Given the description of an element on the screen output the (x, y) to click on. 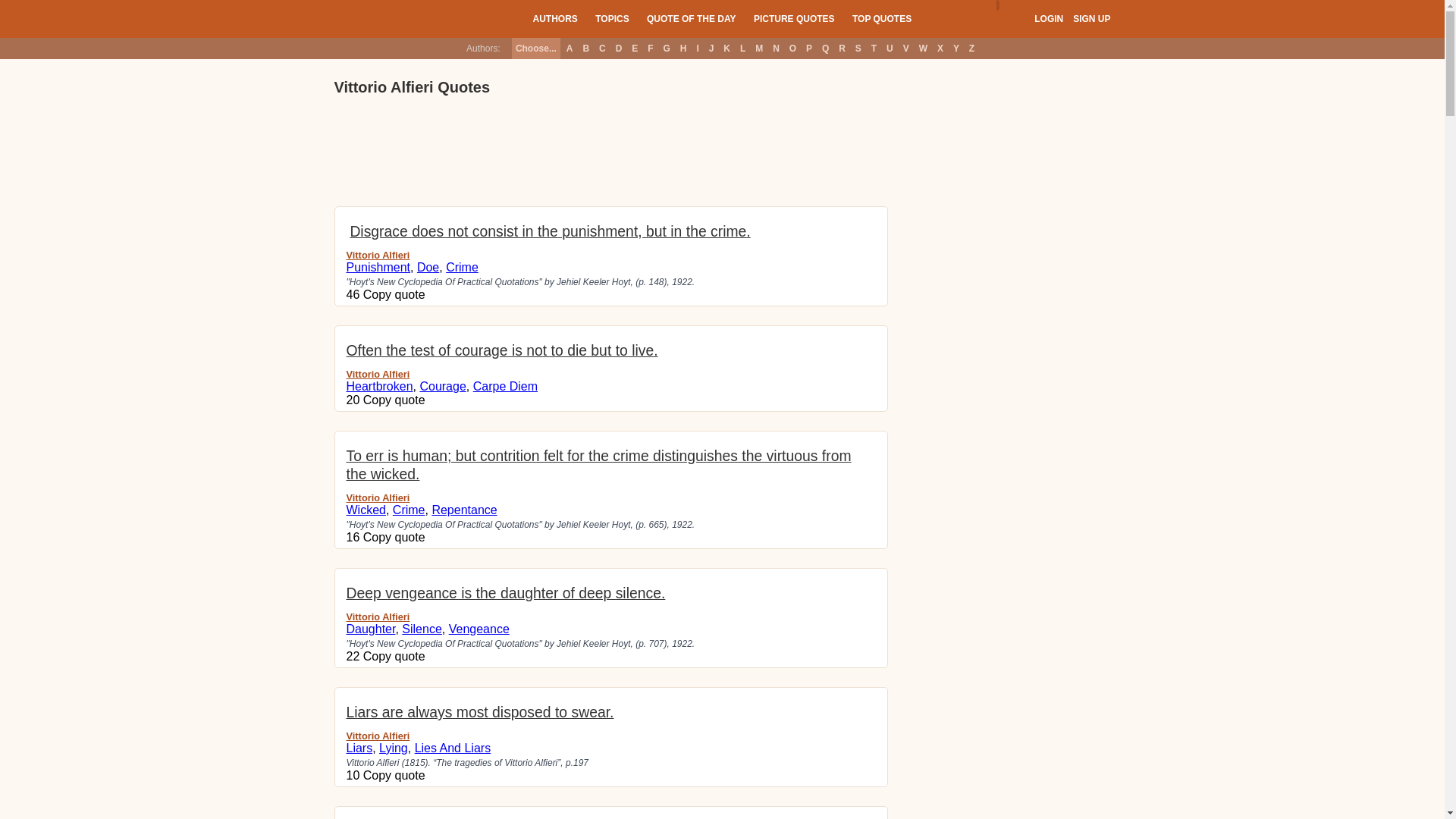
AUTHORS (554, 18)
Quote is copied (393, 775)
SIGN UP (1091, 18)
QUOTE OF THE DAY (691, 18)
LOGIN (1047, 18)
Quote is copied (393, 656)
Quote is copied (393, 399)
TOPICS (612, 18)
Quote is copied (393, 294)
TOP QUOTES (881, 18)
